Given the description of an element on the screen output the (x, y) to click on. 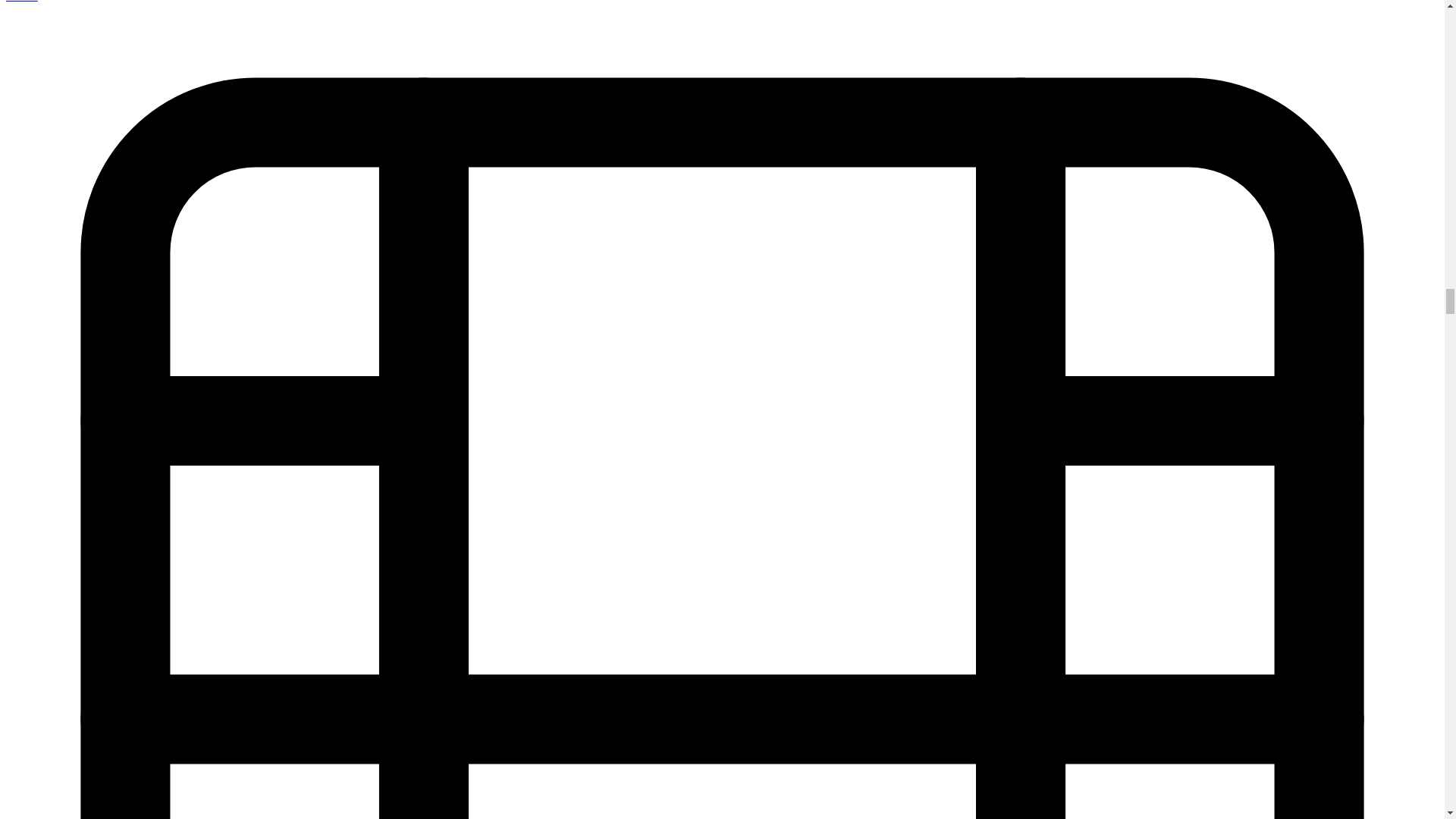
Vector (21, 1)
